Given the description of an element on the screen output the (x, y) to click on. 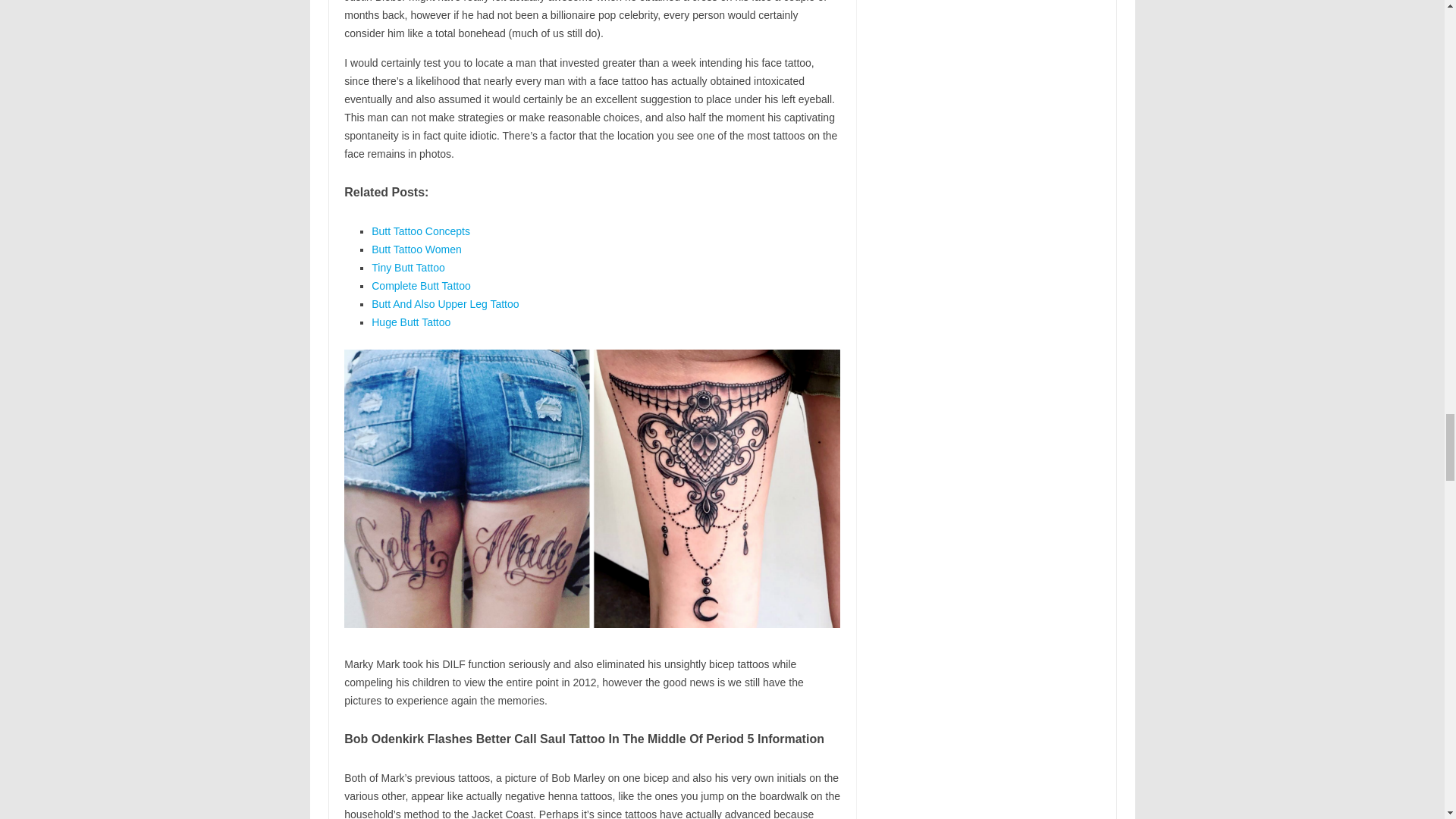
Tiny Butt Tattoo (408, 267)
Butt Tattoo Concepts (420, 231)
Huge Butt Tattoo (410, 322)
Butt Tattoo Women (416, 249)
Complete Butt Tattoo (420, 285)
Butt And Also Upper Leg Tattoo (444, 304)
